Given the description of an element on the screen output the (x, y) to click on. 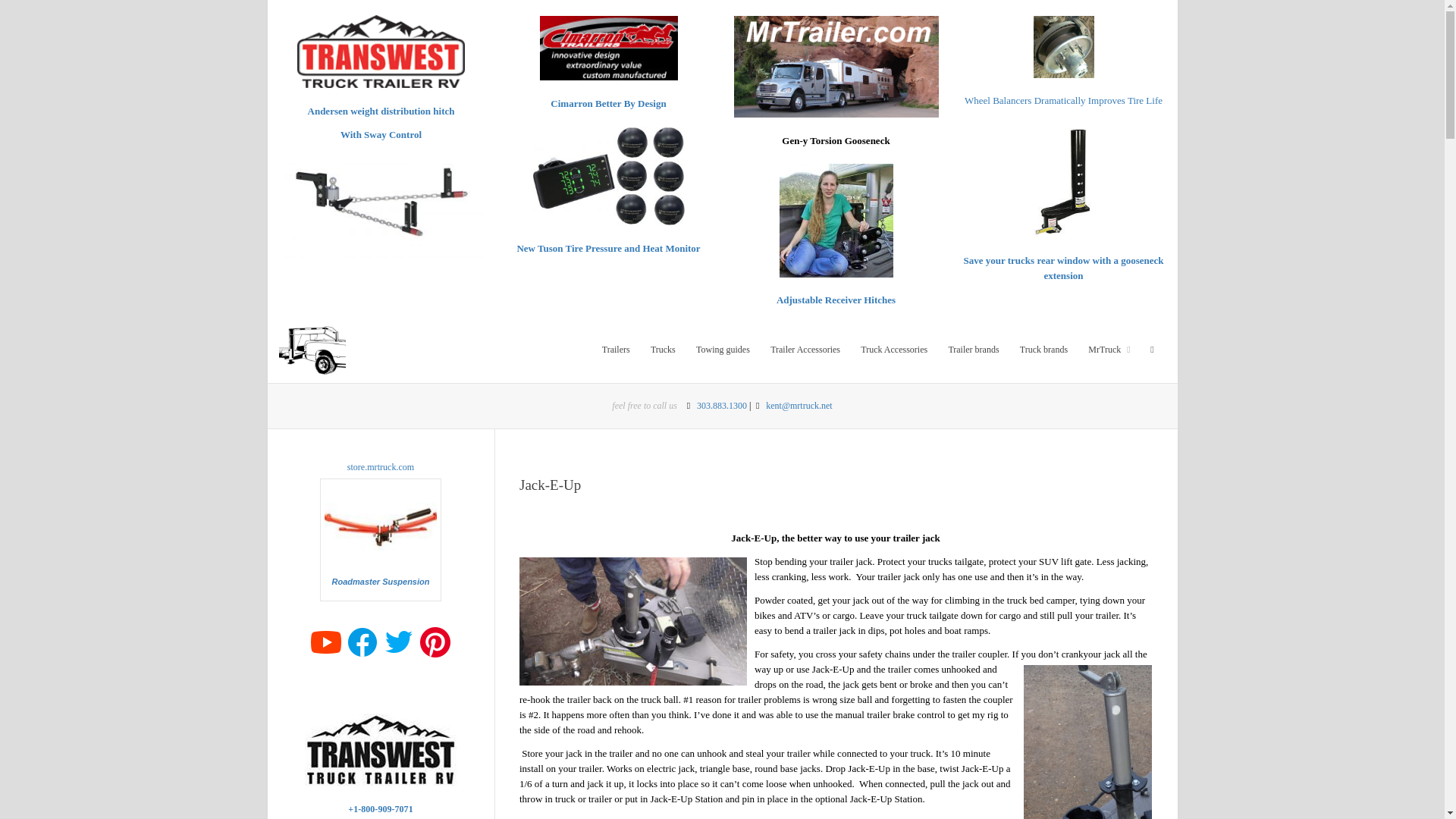
Adjustable Receiver Hitches (835, 299)
Save your trucks rear window with a gooseneck extension (1062, 267)
Trailer Accessories (805, 349)
Truck Accessories (893, 349)
With Sway Control (381, 134)
Truck Accessories (893, 349)
New Tuson Tire Pressure and Heat Monitor (608, 247)
Gen-y Torsion Gooseneck (835, 140)
Cimarron Better By Desig (605, 102)
Andersen weight distribution hitch (380, 111)
